Given the description of an element on the screen output the (x, y) to click on. 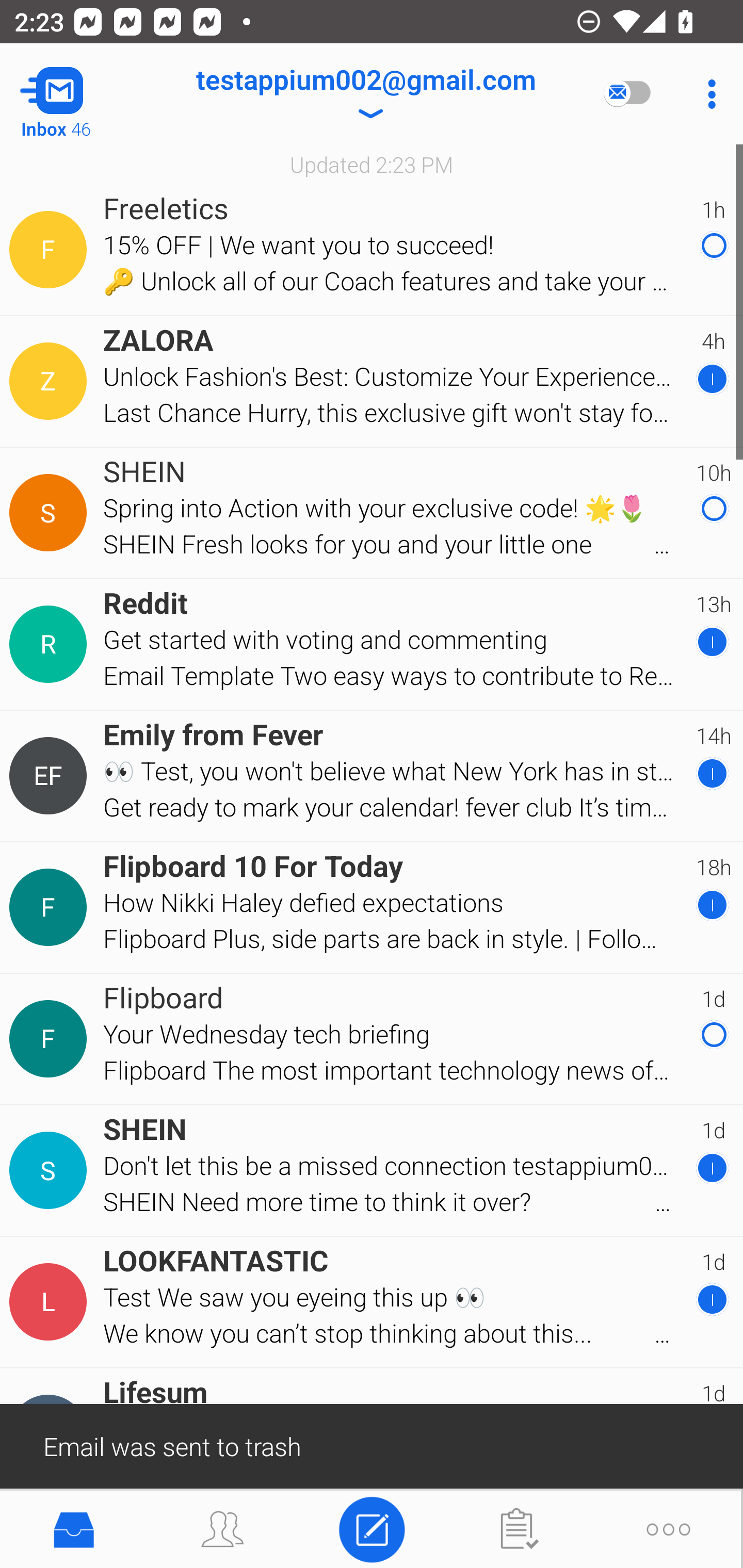
Navigate up (81, 93)
testappium002@gmail.com (365, 93)
More Options (706, 93)
Updated 2:23 PM (371, 164)
Contact Details (50, 250)
Contact Details (50, 381)
Contact Details (50, 513)
Contact Details (50, 644)
Contact Details (50, 776)
Contact Details (50, 907)
Contact Details (50, 1038)
Contact Details (50, 1170)
Contact Details (50, 1302)
Email was sent to trash (371, 1445)
